Given the description of an element on the screen output the (x, y) to click on. 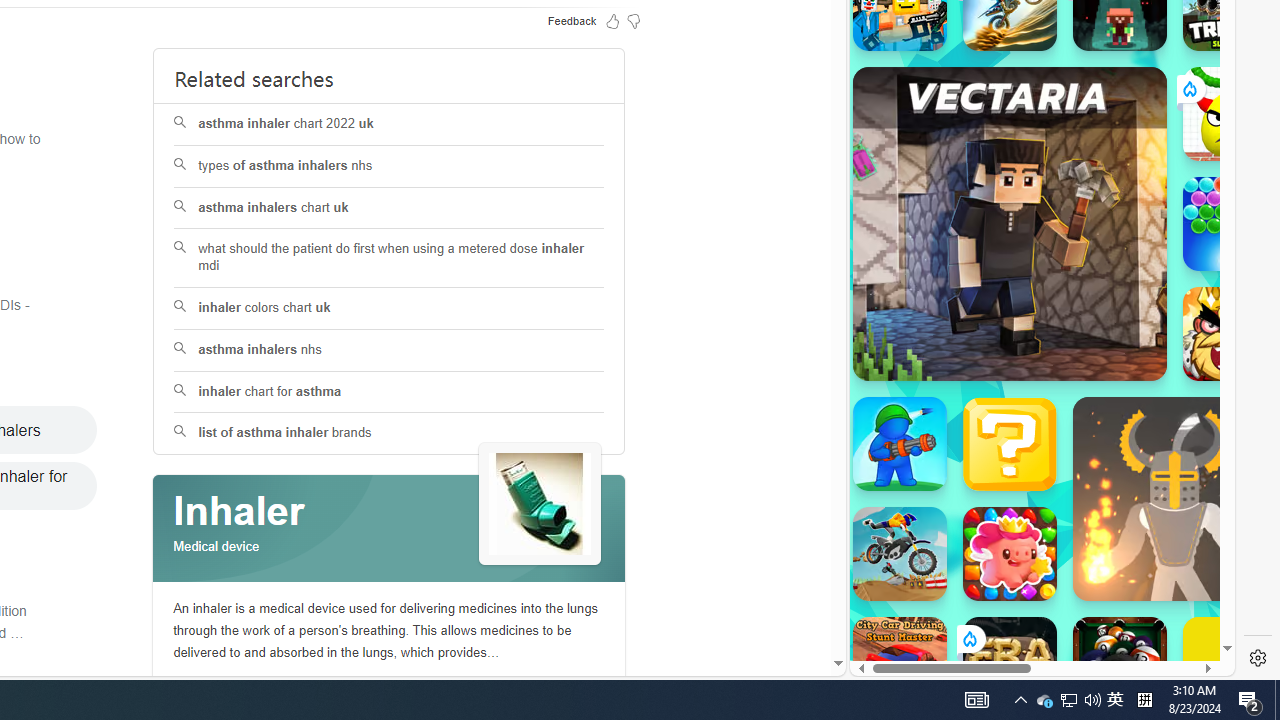
asthma inhaler chart 2022 uk (388, 123)
inhaler colors chart uk (388, 308)
asthma inhalers chart uk (389, 208)
Bubble Shooter Bubble Shooter (1229, 223)
Ragdoll Hit Ragdoll Hit (1174, 498)
inhaler chart for asthma (388, 391)
inhaler colors chart uk (389, 308)
inhaler chart for asthma (389, 391)
Combat Reloaded Combat Reloaded poki.com (1092, 245)
Click to scroll right (1196, 247)
Like a King (1229, 333)
Crazy Cars (1217, 290)
